Given the description of an element on the screen output the (x, y) to click on. 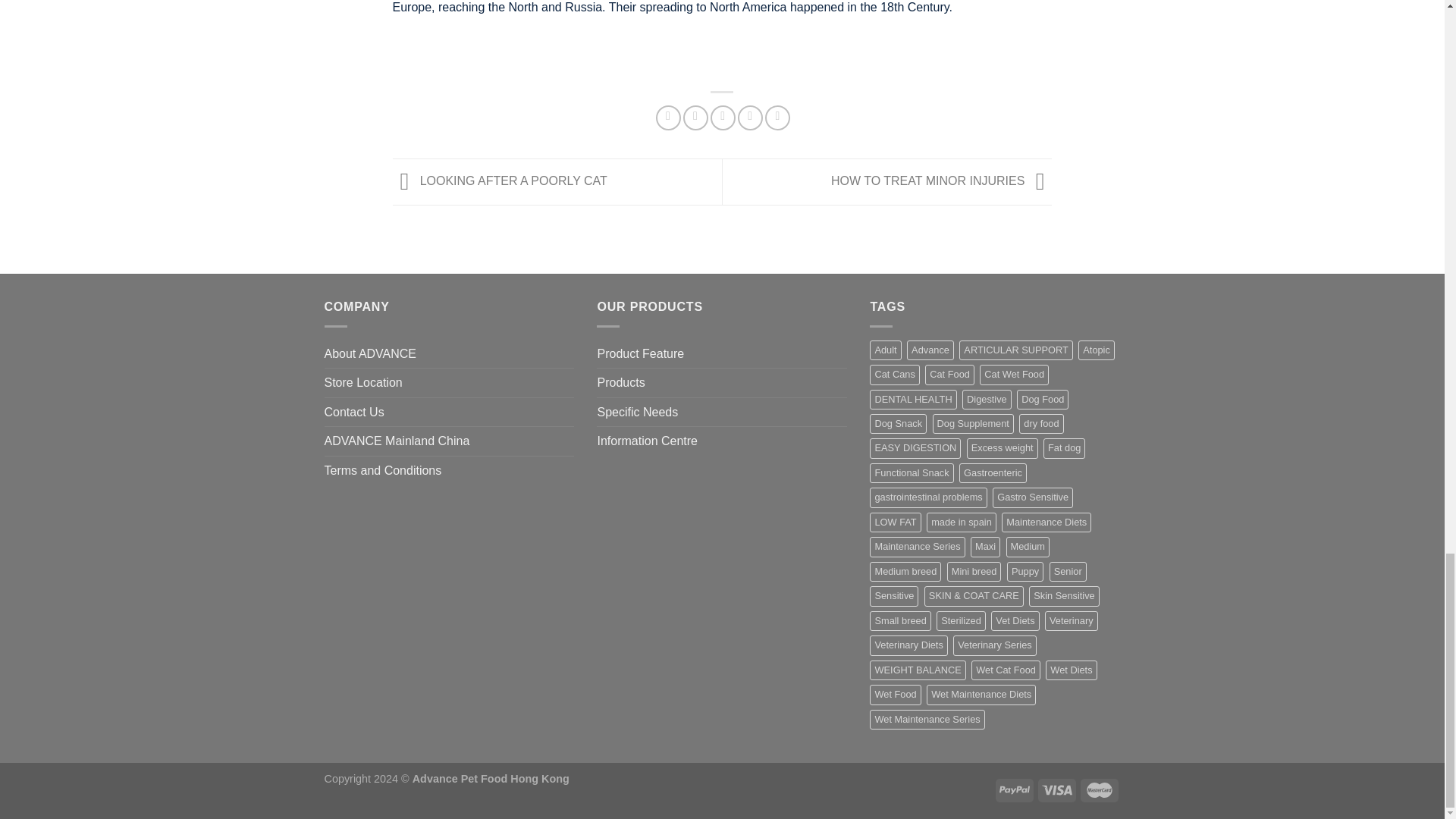
Share on Twitter (694, 117)
Email to a Friend (722, 117)
Share on Facebook (668, 117)
Pin on Pinterest (750, 117)
Share on LinkedIn (777, 117)
